Given the description of an element on the screen output the (x, y) to click on. 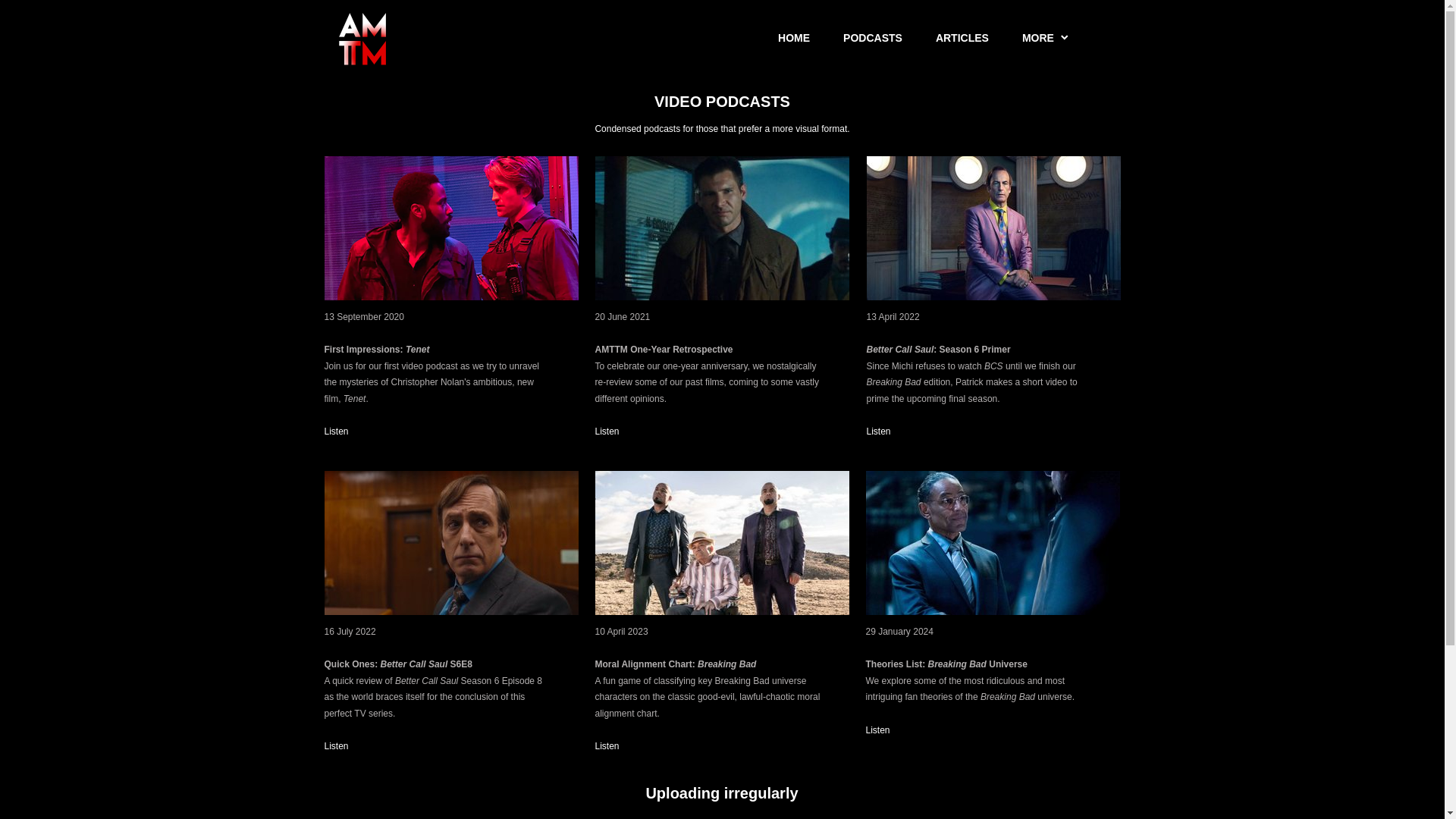
Listen (877, 430)
Listen (606, 746)
Listen (336, 430)
PODCASTS (872, 38)
ARTICLES (962, 38)
Listen (606, 430)
MORE (1046, 38)
Listen (877, 729)
Listen (336, 746)
HOME (793, 38)
